Given the description of an element on the screen output the (x, y) to click on. 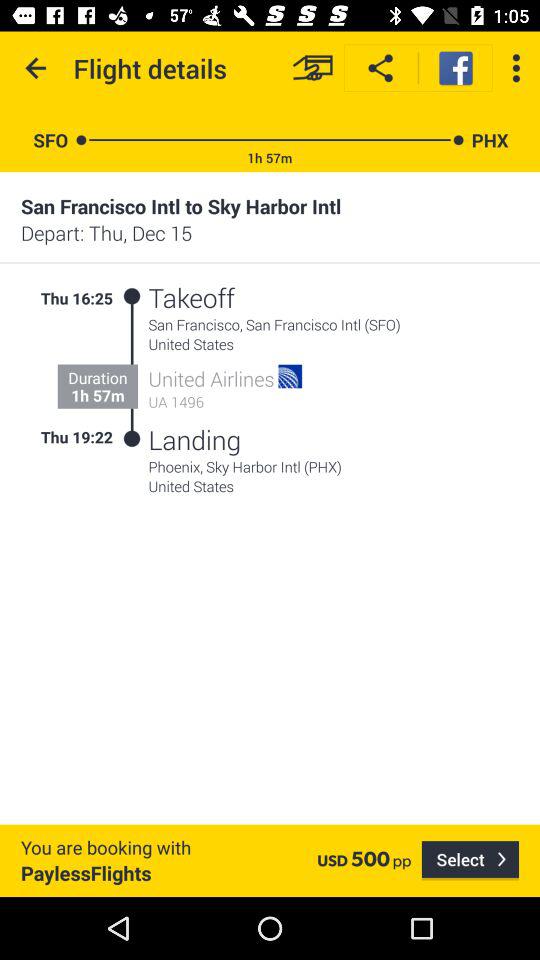
press the item above the san francisco san (301, 297)
